Given the description of an element on the screen output the (x, y) to click on. 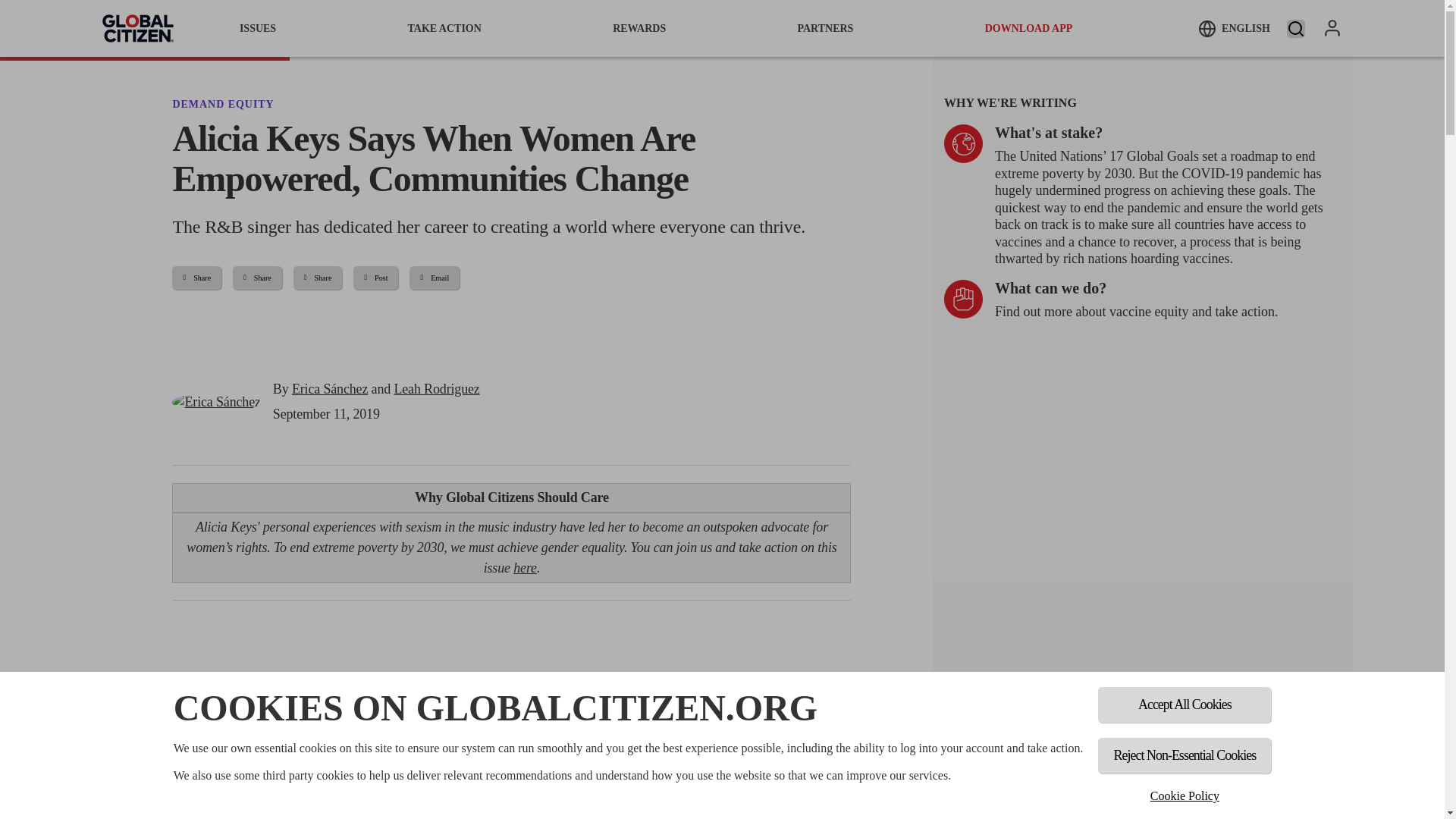
Share (196, 277)
REWARDS (639, 28)
PARTNERS (825, 28)
DOWNLOAD APP (1029, 28)
ENGLISH (1233, 28)
TAKE ACTION (444, 28)
DEMAND EQUITY (222, 103)
ISSUES (257, 28)
Demand Equity (222, 103)
